Given the description of an element on the screen output the (x, y) to click on. 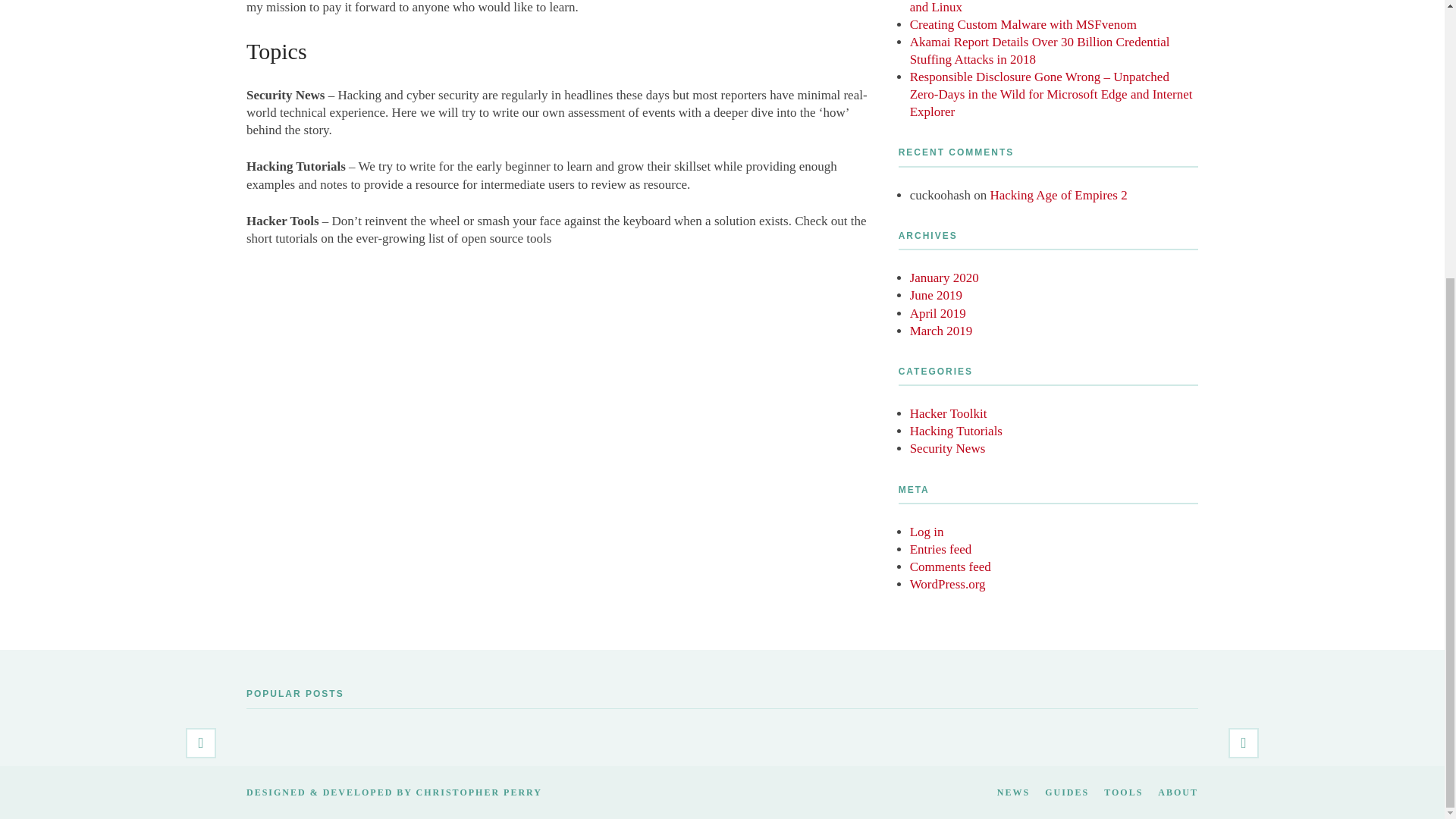
Hacking Age of Empires 2 (1058, 195)
March 2019 (941, 330)
Common Privilege Escalation Vectors For Windows and Linux (1044, 7)
Creating Custom Malware with MSFvenom (1023, 24)
April 2019 (938, 313)
Hacker Toolkit (948, 413)
June 2019 (936, 295)
January 2020 (944, 278)
